Given the description of an element on the screen output the (x, y) to click on. 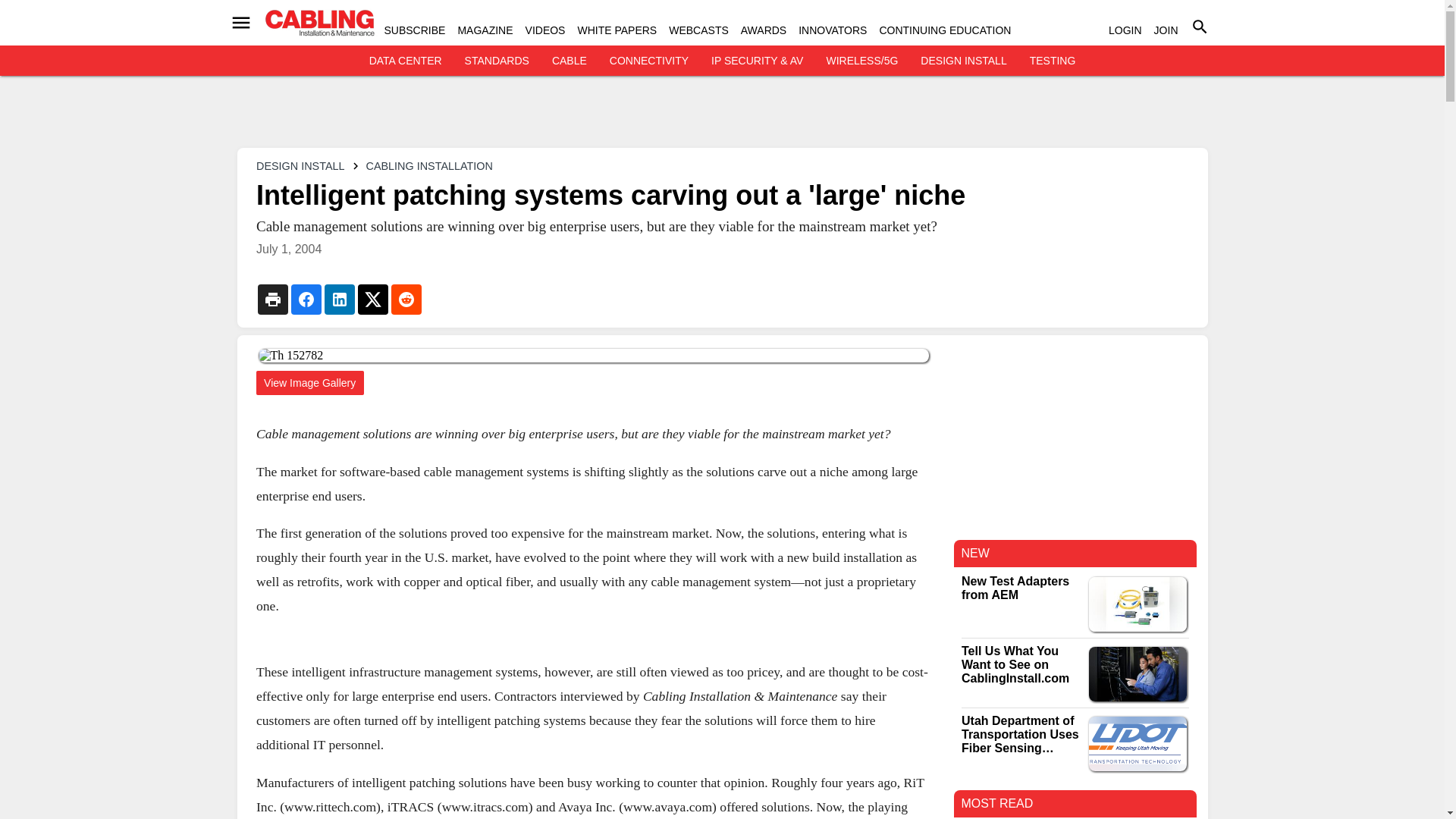
JOIN (1165, 30)
TESTING (1052, 60)
WHITE PAPERS (616, 30)
INNOVATORS (831, 30)
STANDARDS (496, 60)
AWARDS (763, 30)
CONTINUING EDUCATION (944, 30)
WEBCASTS (698, 30)
MAGAZINE (484, 30)
CONNECTIVITY (649, 60)
